Given the description of an element on the screen output the (x, y) to click on. 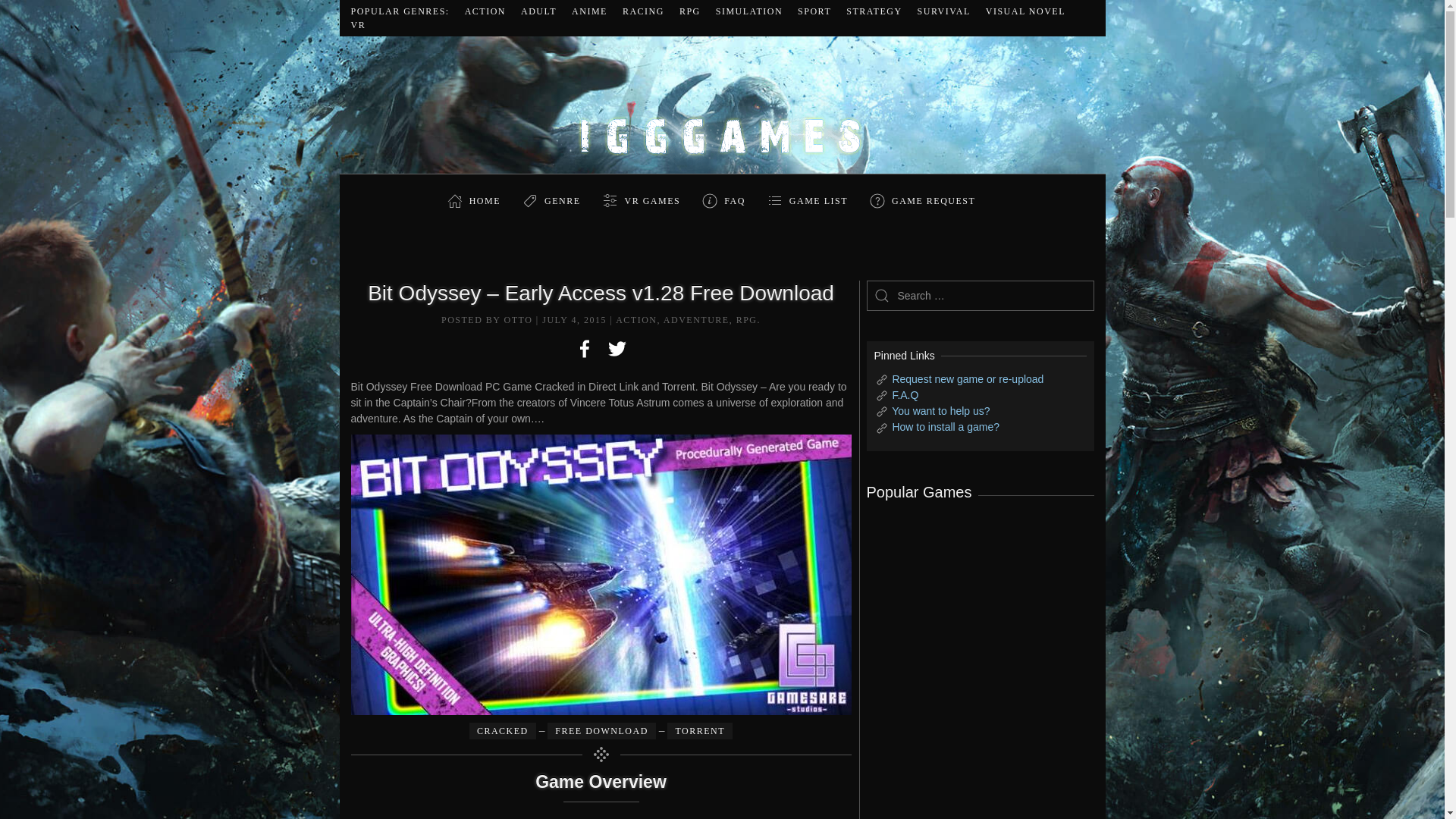
POPULAR GENRES: (399, 11)
